Given the description of an element on the screen output the (x, y) to click on. 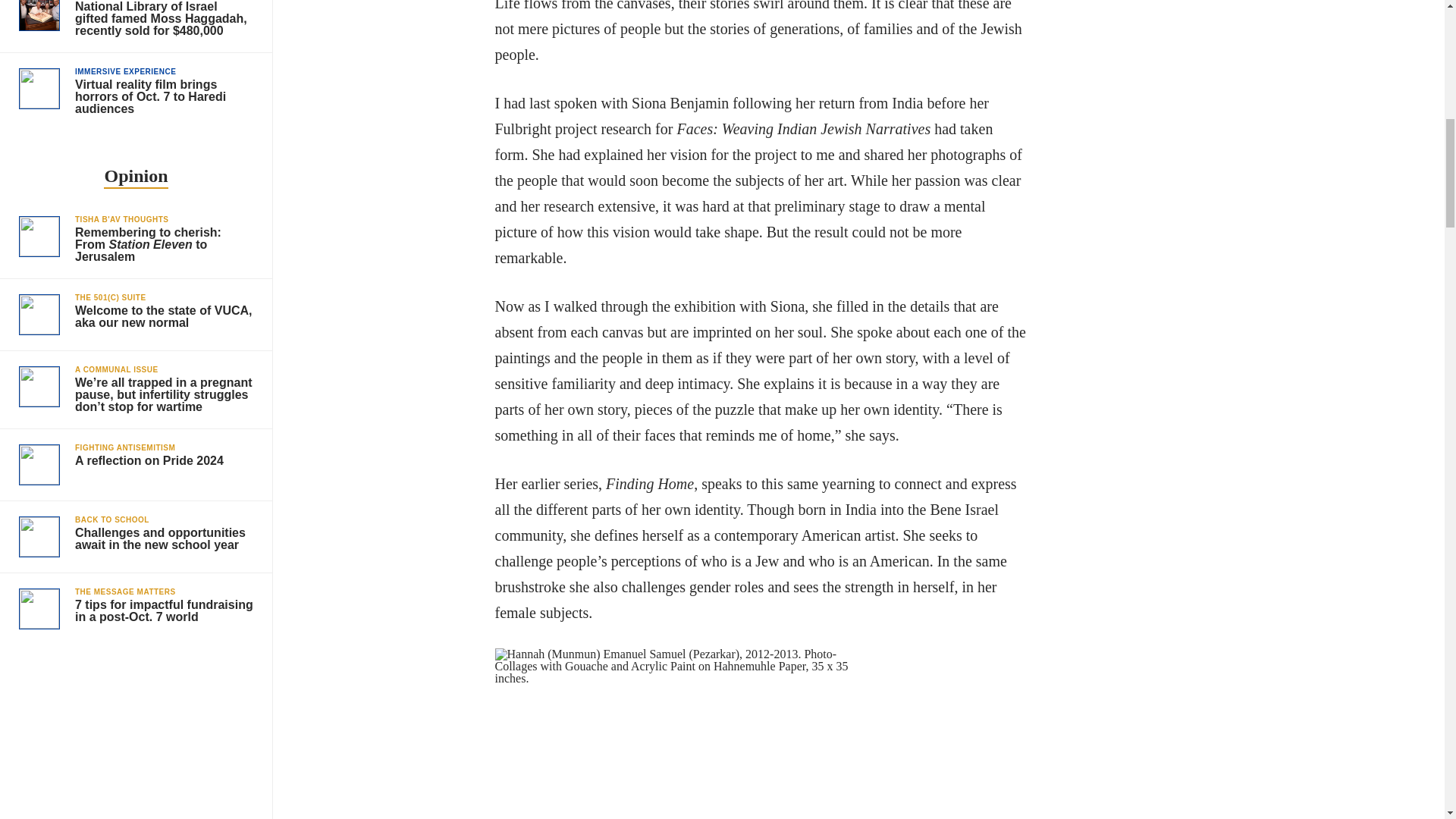
Opinion (135, 178)
